Given the description of an element on the screen output the (x, y) to click on. 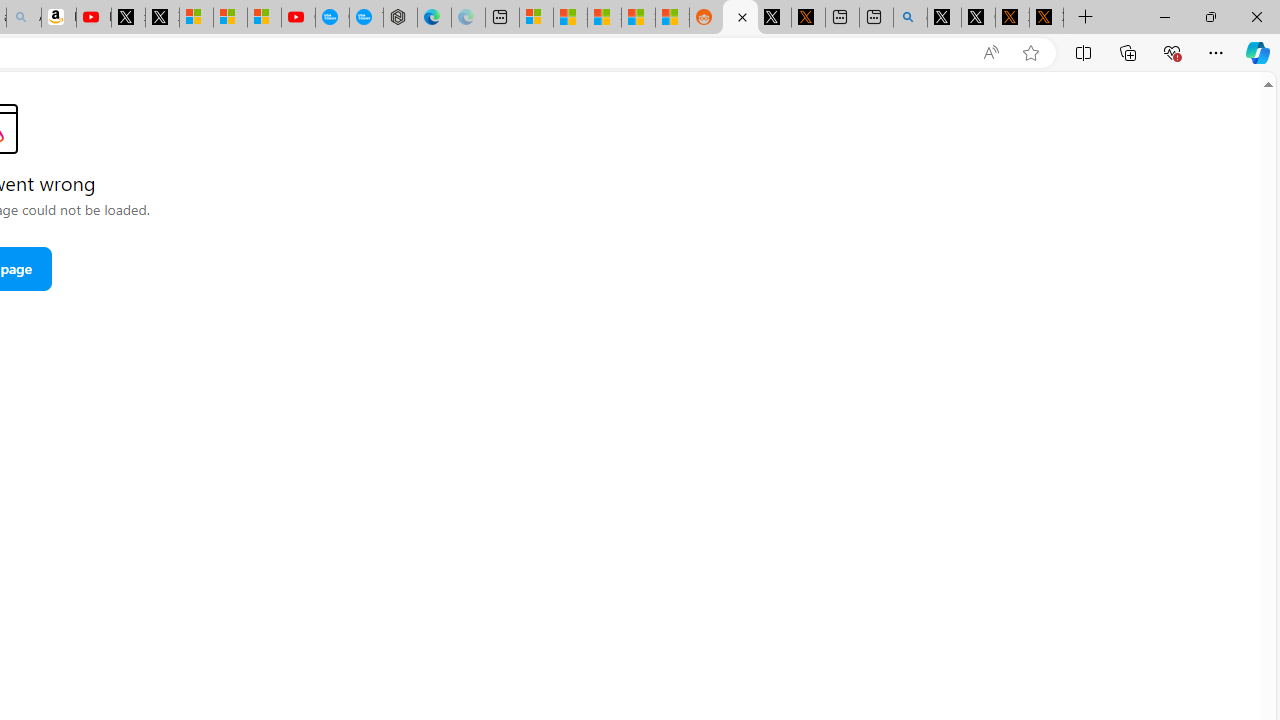
Microsoft account | Microsoft Account Privacy Settings (535, 17)
X (162, 17)
Nordace - Nordace has arrived Hong Kong (400, 17)
The most popular Google 'how to' searches (365, 17)
GitHub (@github) / X (978, 17)
